Given the description of an element on the screen output the (x, y) to click on. 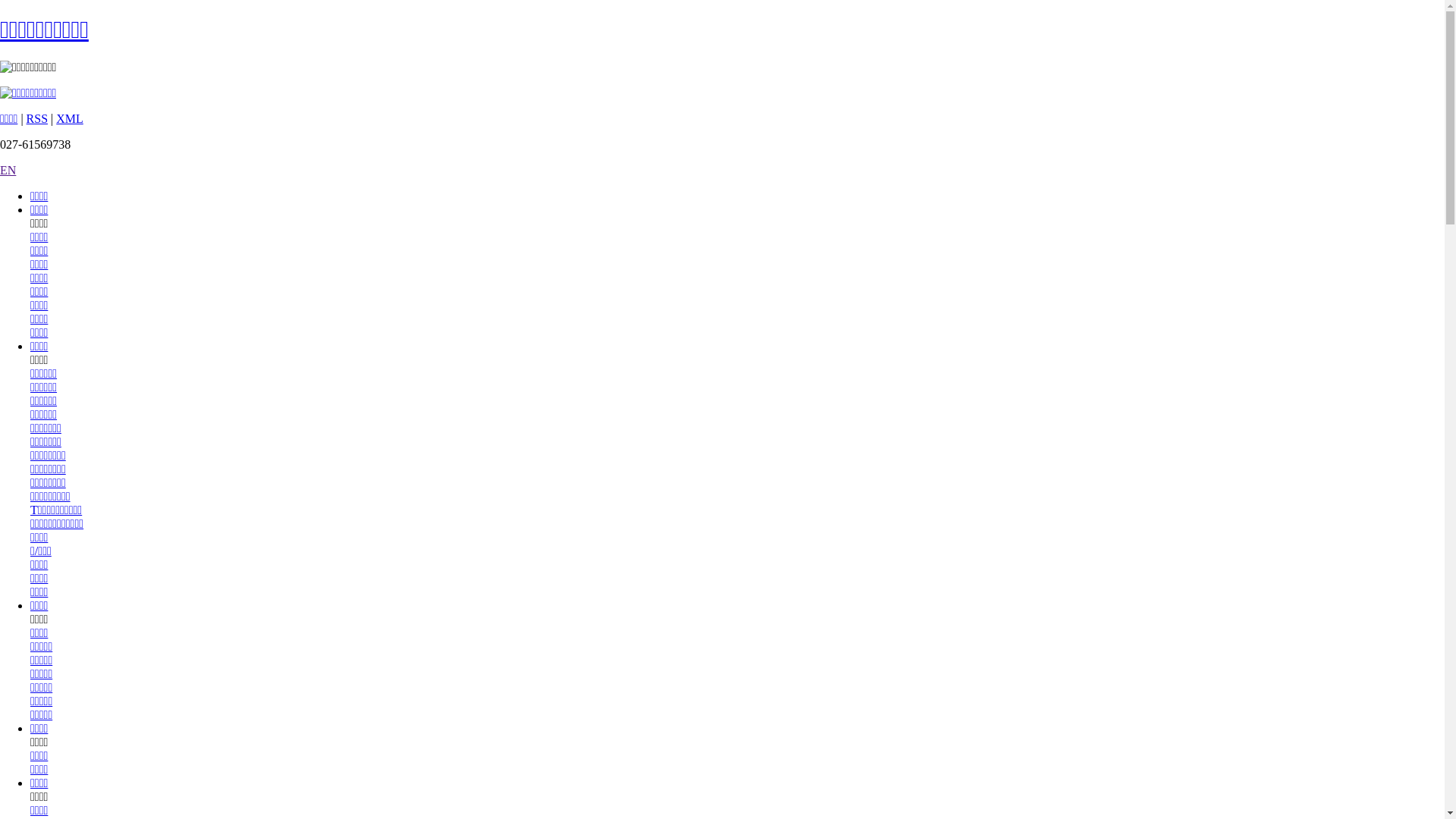
RSS Element type: text (36, 118)
EN Element type: text (7, 169)
XML Element type: text (69, 118)
